Given the description of an element on the screen output the (x, y) to click on. 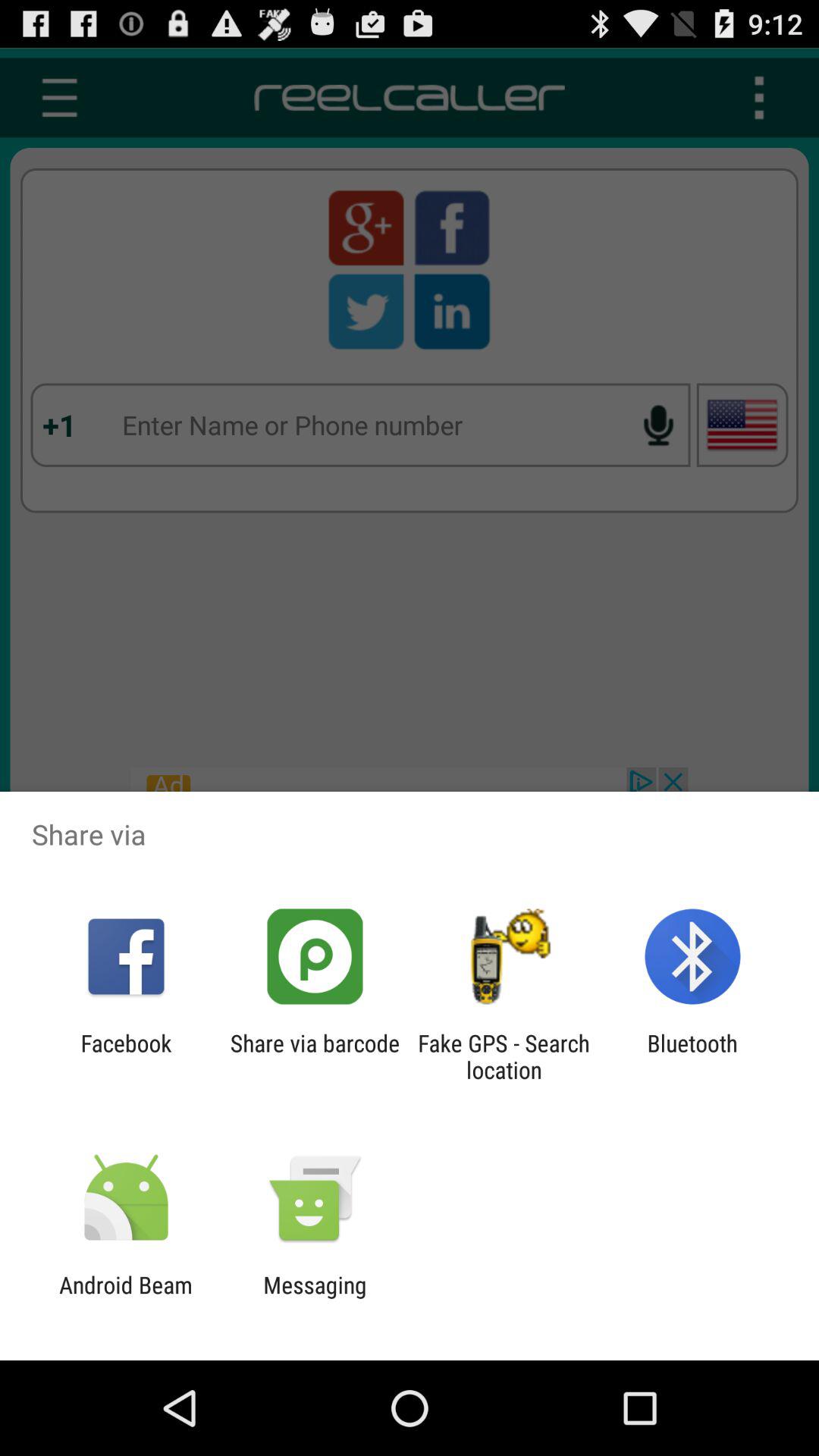
launch facebook icon (125, 1056)
